Given the description of an element on the screen output the (x, y) to click on. 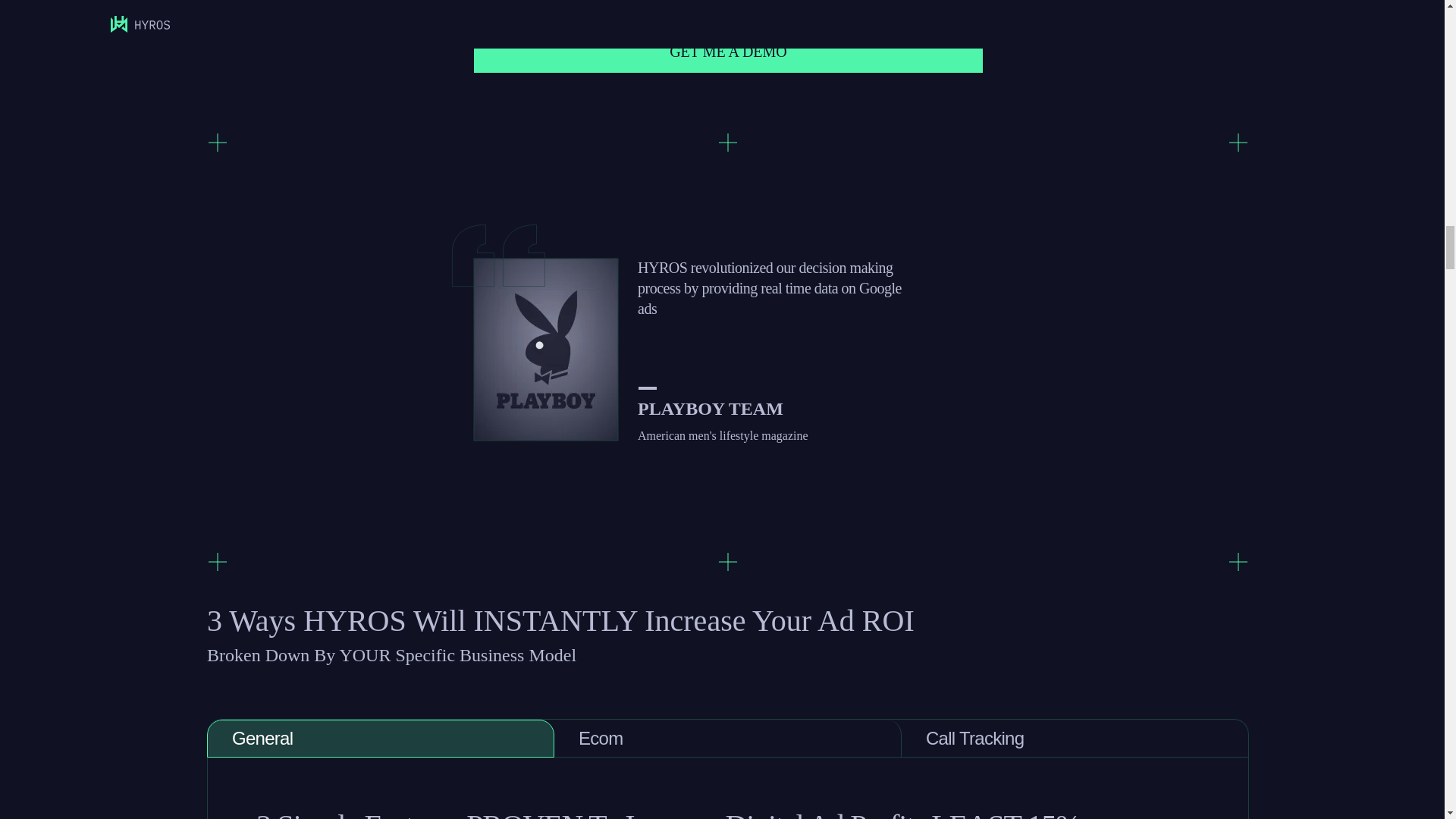
Call Tracking (1075, 738)
Ecom (727, 738)
GET ME A DEMO (729, 51)
General (380, 738)
